Given the description of an element on the screen output the (x, y) to click on. 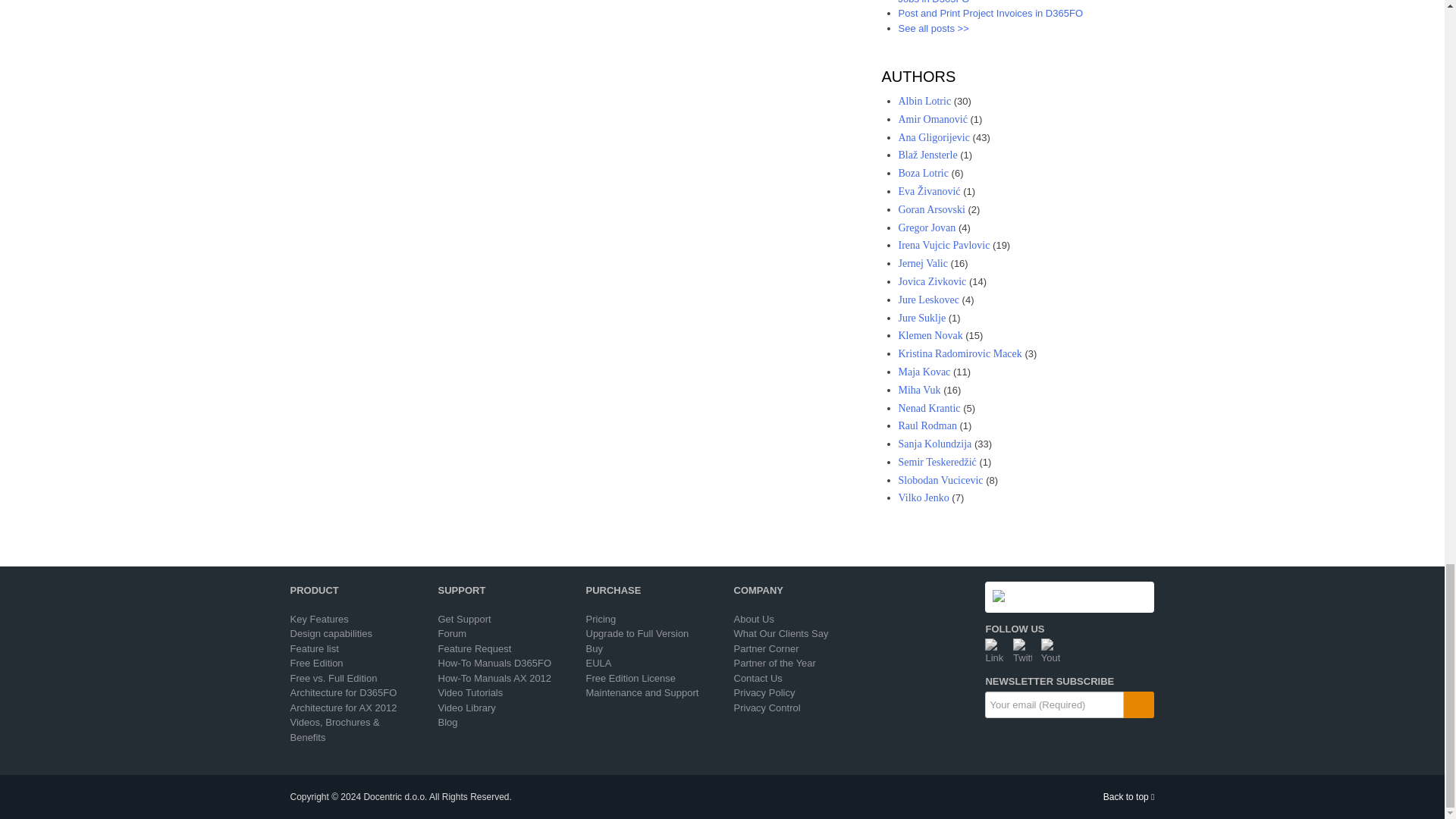
Posts by Ana Gligorijevic (933, 137)
Send (1139, 704)
Posts by Boza Lotric (922, 173)
Posts by Irena Vujcic Pavlovic (944, 244)
Posts by Albin Lotric (924, 101)
Posts by Goran Arsovski (930, 209)
Posts by Gregor Jovan (926, 227)
